Given the description of an element on the screen output the (x, y) to click on. 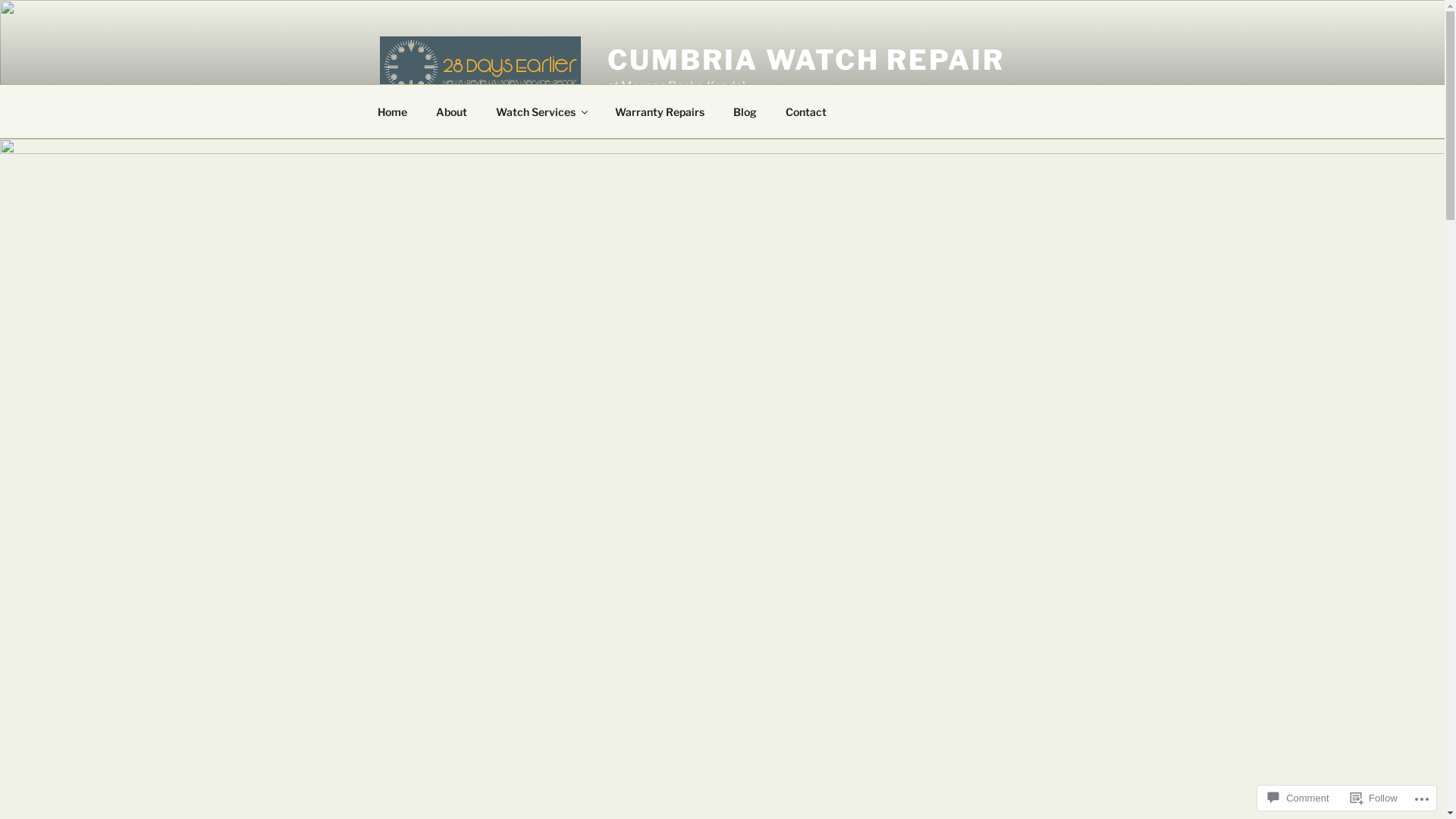
Home Element type: text (392, 110)
Warranty Repairs Element type: text (660, 110)
CUMBRIA WATCH REPAIR Element type: text (805, 59)
Watch Services Element type: text (540, 110)
Contact Element type: text (805, 110)
Comment Element type: text (1297, 797)
Blog Element type: text (745, 110)
Follow Element type: text (1373, 797)
About Element type: text (451, 110)
